Given the description of an element on the screen output the (x, y) to click on. 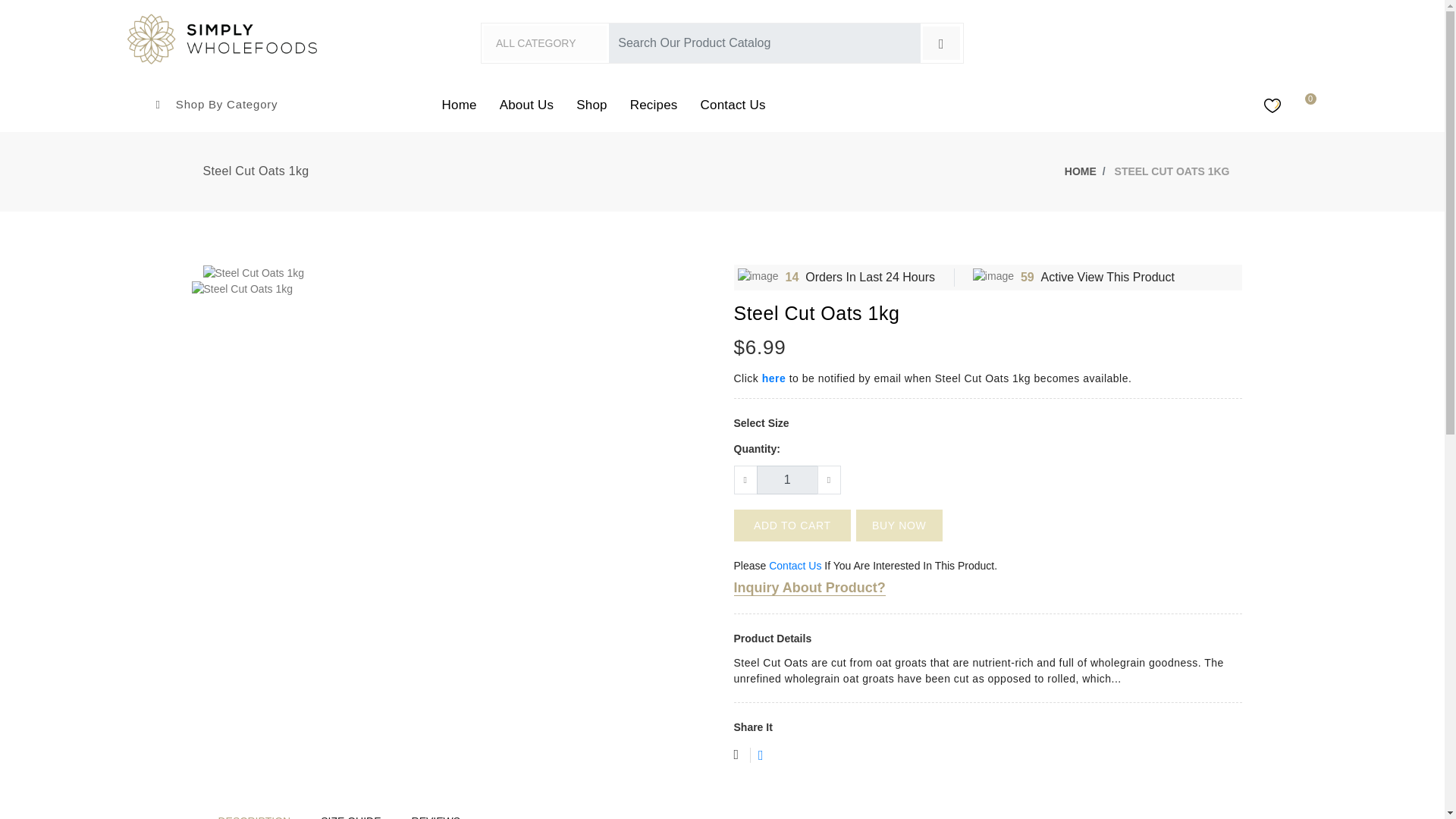
Recipes (653, 104)
BUY NOW (899, 525)
Home (458, 104)
wishlist (750, 756)
here (773, 378)
Contact Us (794, 565)
1 (786, 480)
ADD TO CART (791, 525)
About Us (526, 104)
Shop By Category (217, 104)
